Given the description of an element on the screen output the (x, y) to click on. 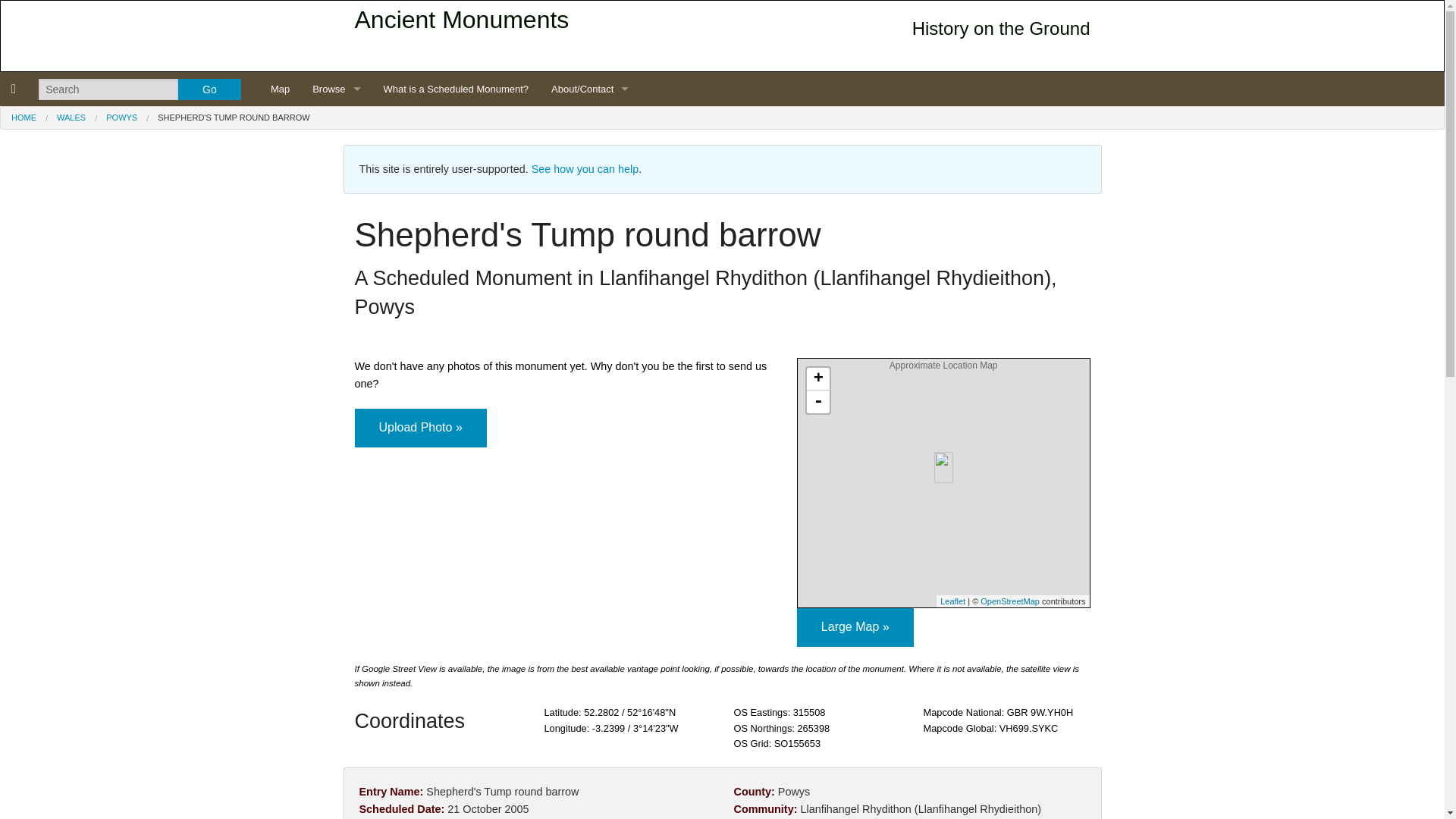
Important Information (590, 123)
Contact (590, 225)
What's New (590, 191)
Useful Links (590, 396)
What is a Scheduled Monument? (456, 89)
OpenStreetMap (1009, 601)
Zoom in (817, 378)
Go (209, 88)
WALES (70, 117)
Zoom out (817, 401)
